Given the description of an element on the screen output the (x, y) to click on. 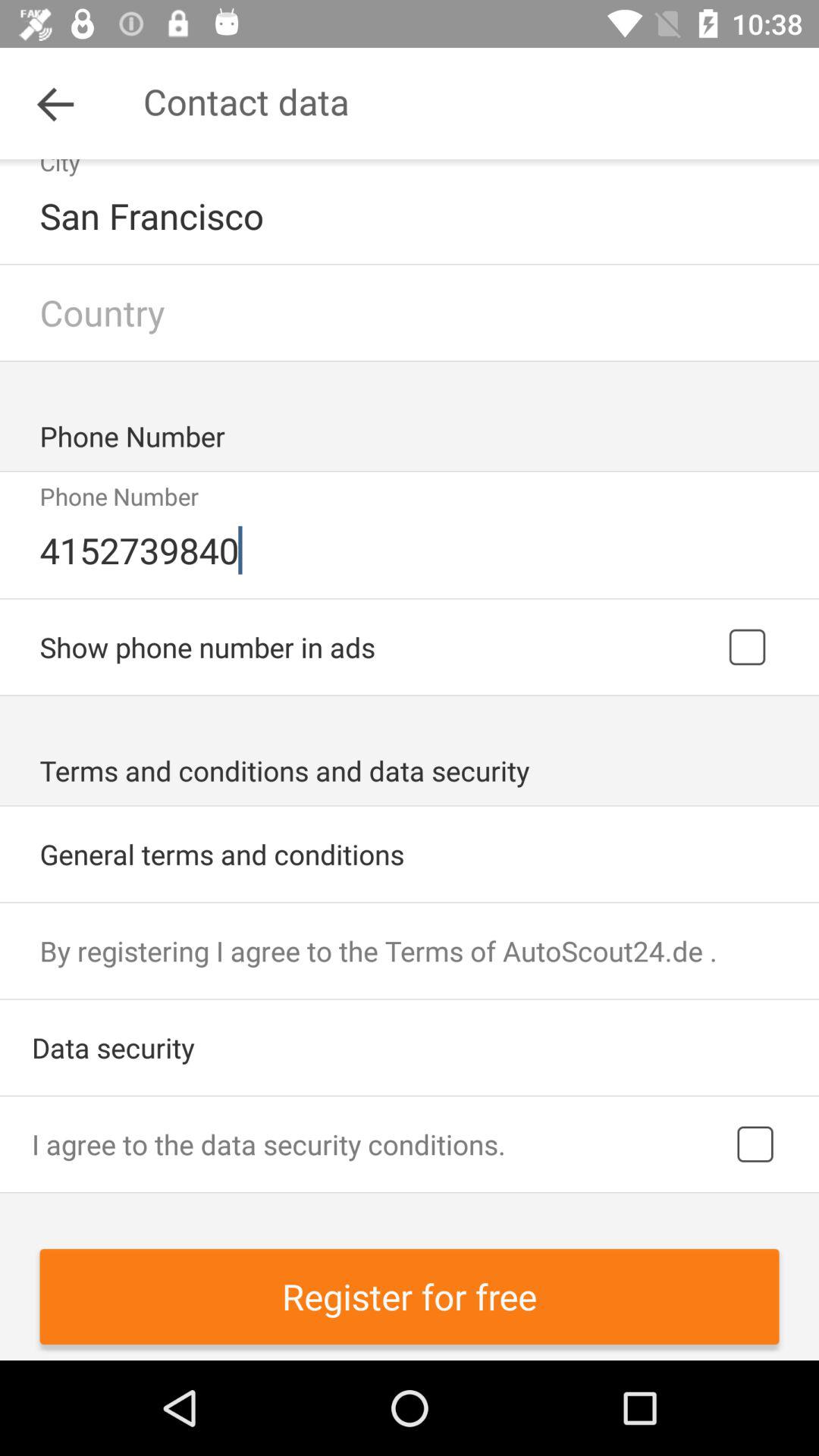
scroll to the register for free item (409, 1296)
